Given the description of an element on the screen output the (x, y) to click on. 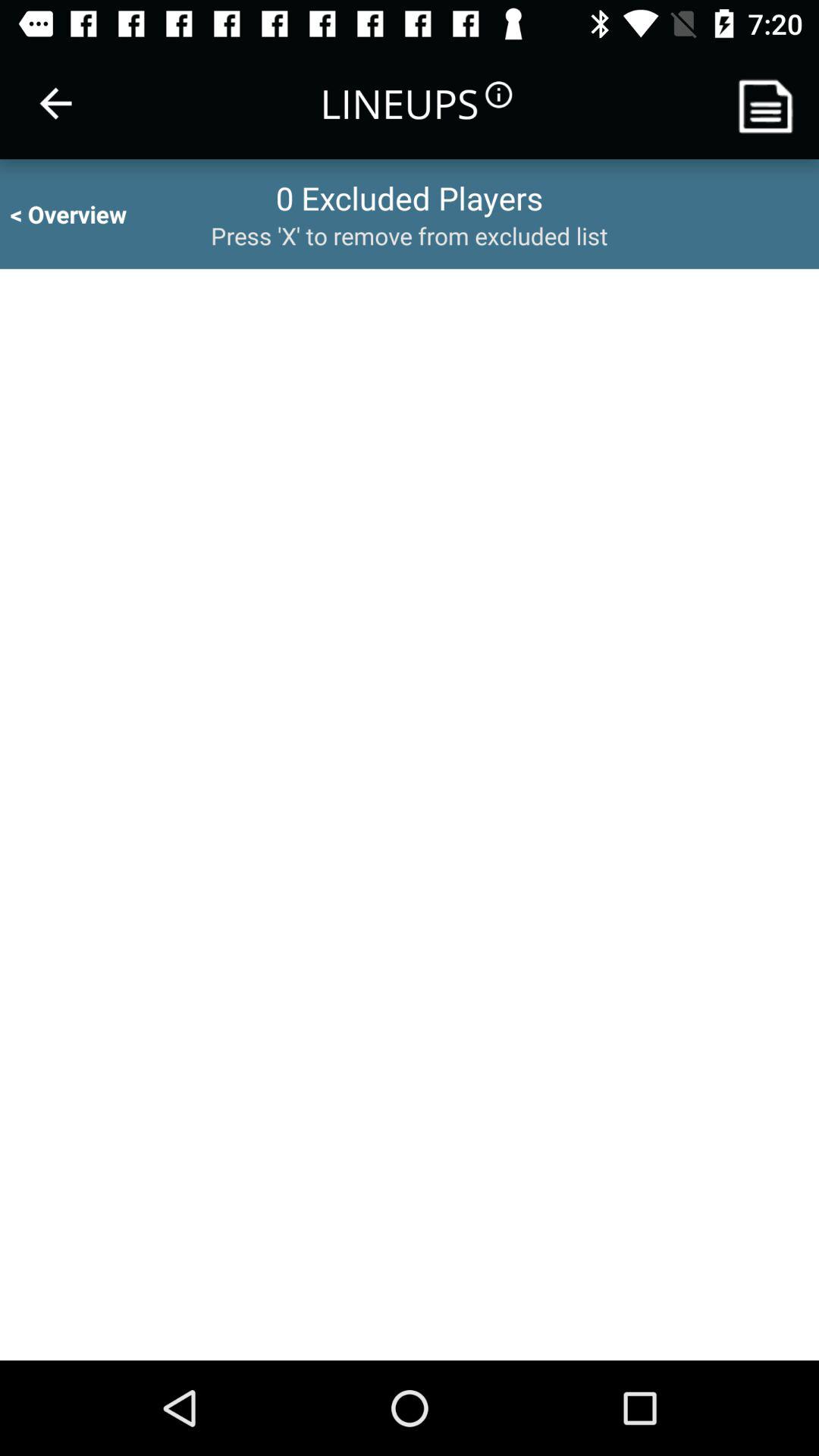
turn off the item at the center (409, 814)
